Given the description of an element on the screen output the (x, y) to click on. 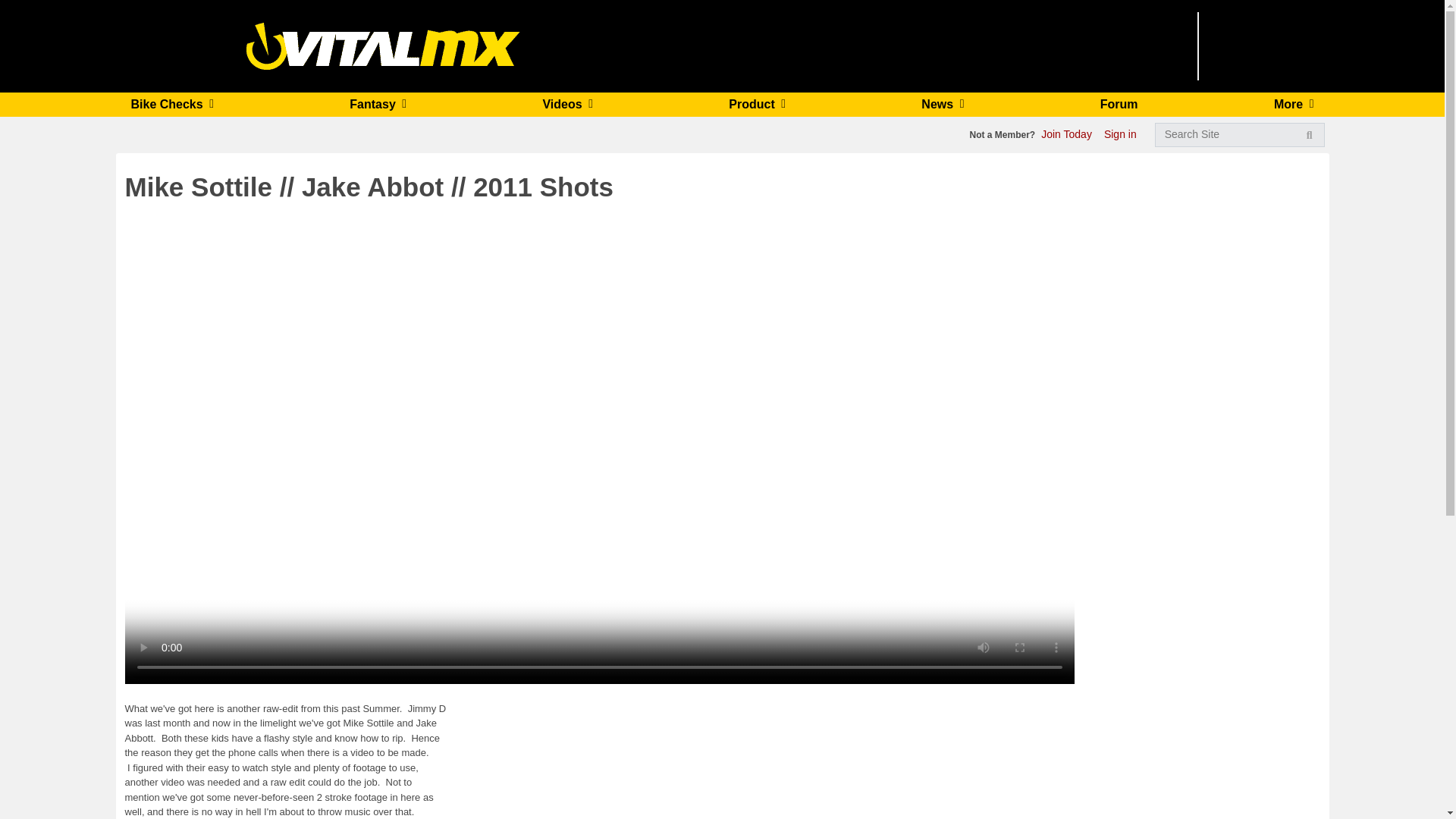
Home (382, 44)
